Given the description of an element on the screen output the (x, y) to click on. 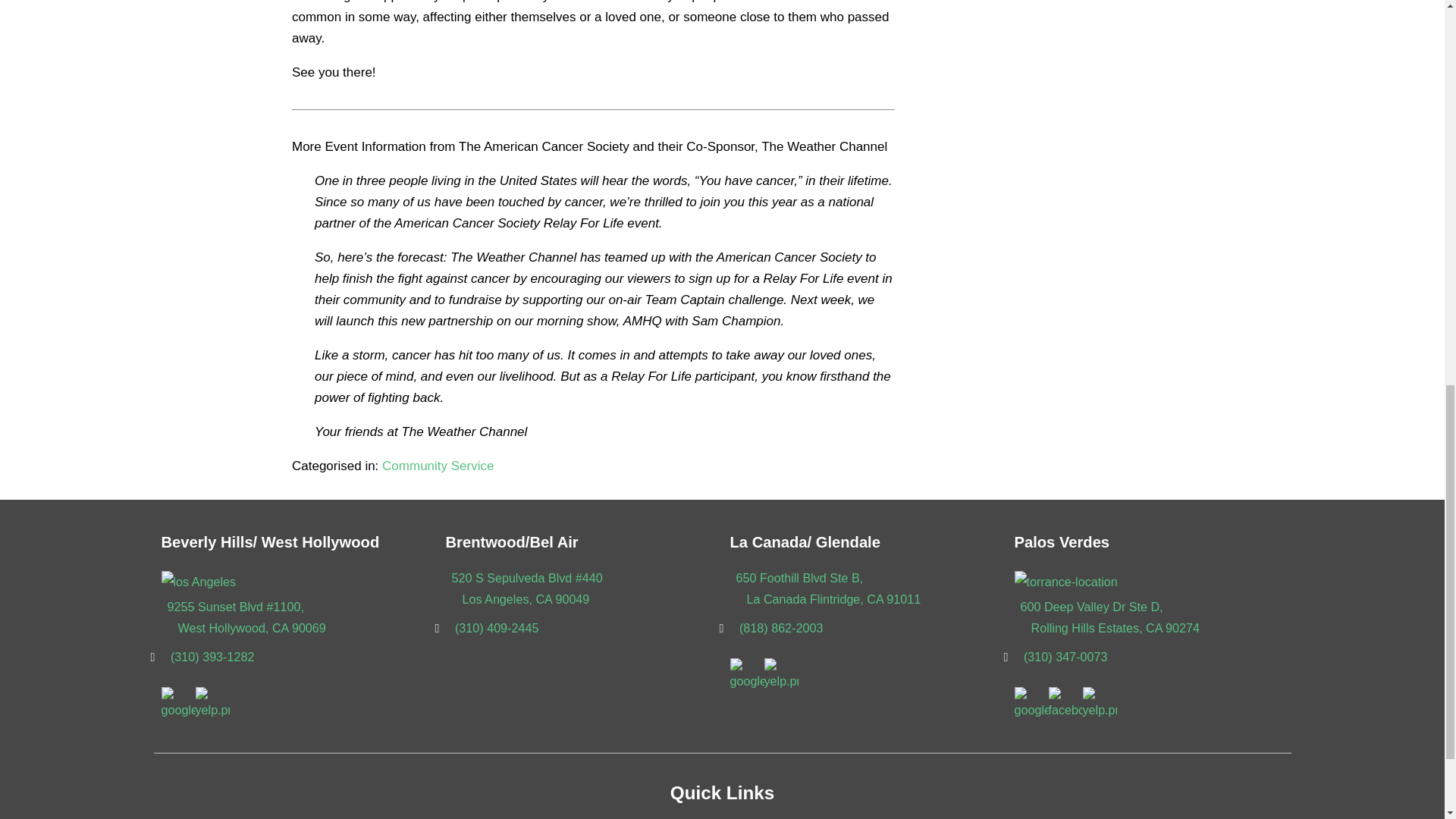
Map (197, 585)
map (1066, 585)
Community Service (437, 465)
